Given the description of an element on the screen output the (x, y) to click on. 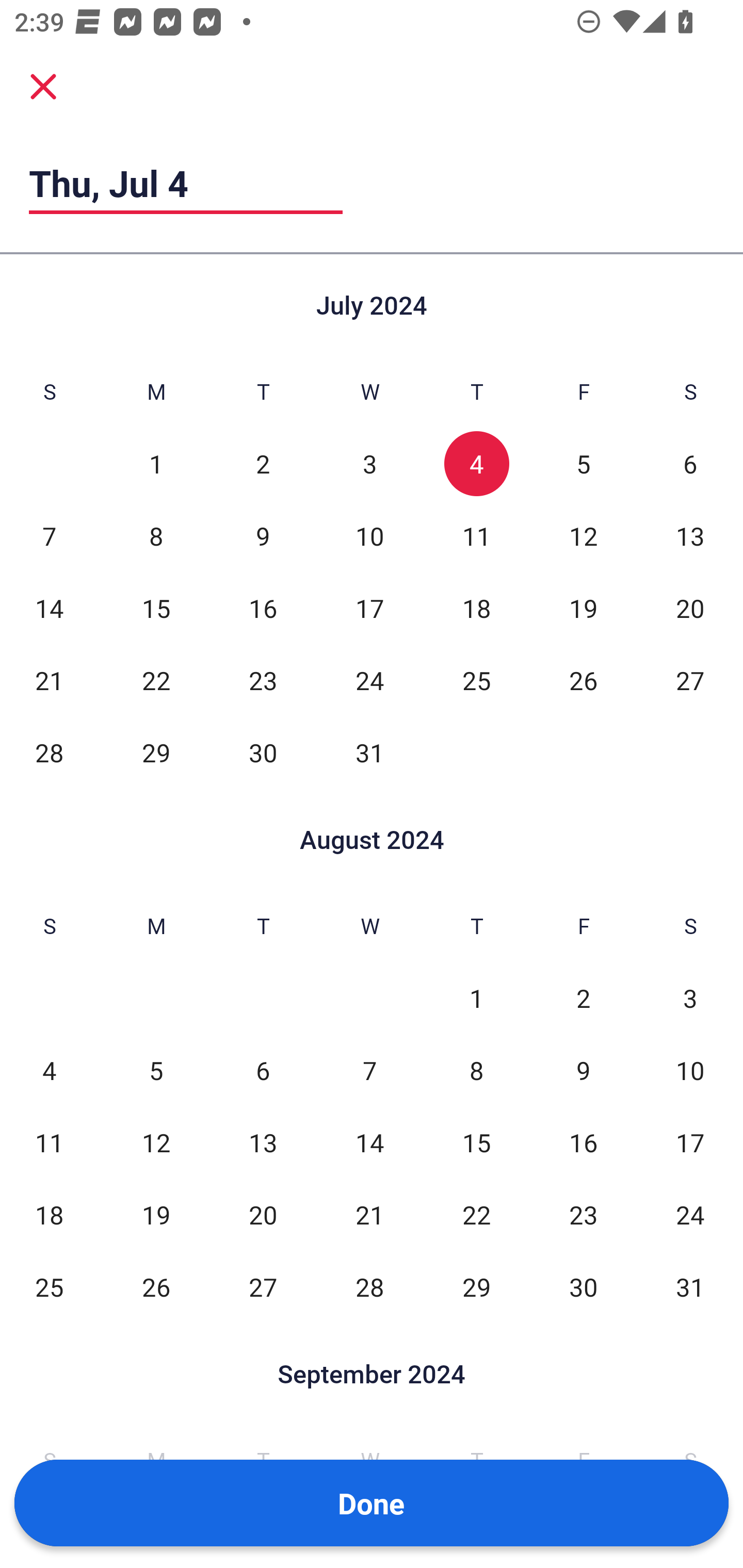
Cancel (43, 86)
Thu, Jul 4 (185, 182)
1 Mon, Jul 1, Not Selected (156, 464)
2 Tue, Jul 2, Not Selected (263, 464)
3 Wed, Jul 3, Not Selected (369, 464)
4 Thu, Jul 4, Selected (476, 464)
5 Fri, Jul 5, Not Selected (583, 464)
6 Sat, Jul 6, Not Selected (690, 464)
7 Sun, Jul 7, Not Selected (49, 536)
8 Mon, Jul 8, Not Selected (156, 536)
9 Tue, Jul 9, Not Selected (263, 536)
10 Wed, Jul 10, Not Selected (369, 536)
11 Thu, Jul 11, Not Selected (476, 536)
12 Fri, Jul 12, Not Selected (583, 536)
13 Sat, Jul 13, Not Selected (690, 536)
14 Sun, Jul 14, Not Selected (49, 608)
15 Mon, Jul 15, Not Selected (156, 608)
16 Tue, Jul 16, Not Selected (263, 608)
17 Wed, Jul 17, Not Selected (369, 608)
18 Thu, Jul 18, Not Selected (476, 608)
19 Fri, Jul 19, Not Selected (583, 608)
20 Sat, Jul 20, Not Selected (690, 608)
21 Sun, Jul 21, Not Selected (49, 680)
22 Mon, Jul 22, Not Selected (156, 680)
23 Tue, Jul 23, Not Selected (263, 680)
24 Wed, Jul 24, Not Selected (369, 680)
25 Thu, Jul 25, Not Selected (476, 680)
26 Fri, Jul 26, Not Selected (583, 680)
27 Sat, Jul 27, Not Selected (690, 680)
28 Sun, Jul 28, Not Selected (49, 752)
29 Mon, Jul 29, Not Selected (156, 752)
30 Tue, Jul 30, Not Selected (263, 752)
31 Wed, Jul 31, Not Selected (369, 752)
1 Thu, Aug 1, Not Selected (476, 997)
2 Fri, Aug 2, Not Selected (583, 997)
3 Sat, Aug 3, Not Selected (690, 997)
4 Sun, Aug 4, Not Selected (49, 1070)
5 Mon, Aug 5, Not Selected (156, 1070)
6 Tue, Aug 6, Not Selected (263, 1070)
7 Wed, Aug 7, Not Selected (369, 1070)
8 Thu, Aug 8, Not Selected (476, 1070)
9 Fri, Aug 9, Not Selected (583, 1070)
10 Sat, Aug 10, Not Selected (690, 1070)
11 Sun, Aug 11, Not Selected (49, 1143)
12 Mon, Aug 12, Not Selected (156, 1143)
13 Tue, Aug 13, Not Selected (263, 1143)
14 Wed, Aug 14, Not Selected (369, 1143)
15 Thu, Aug 15, Not Selected (476, 1143)
16 Fri, Aug 16, Not Selected (583, 1143)
17 Sat, Aug 17, Not Selected (690, 1143)
